Given the description of an element on the screen output the (x, y) to click on. 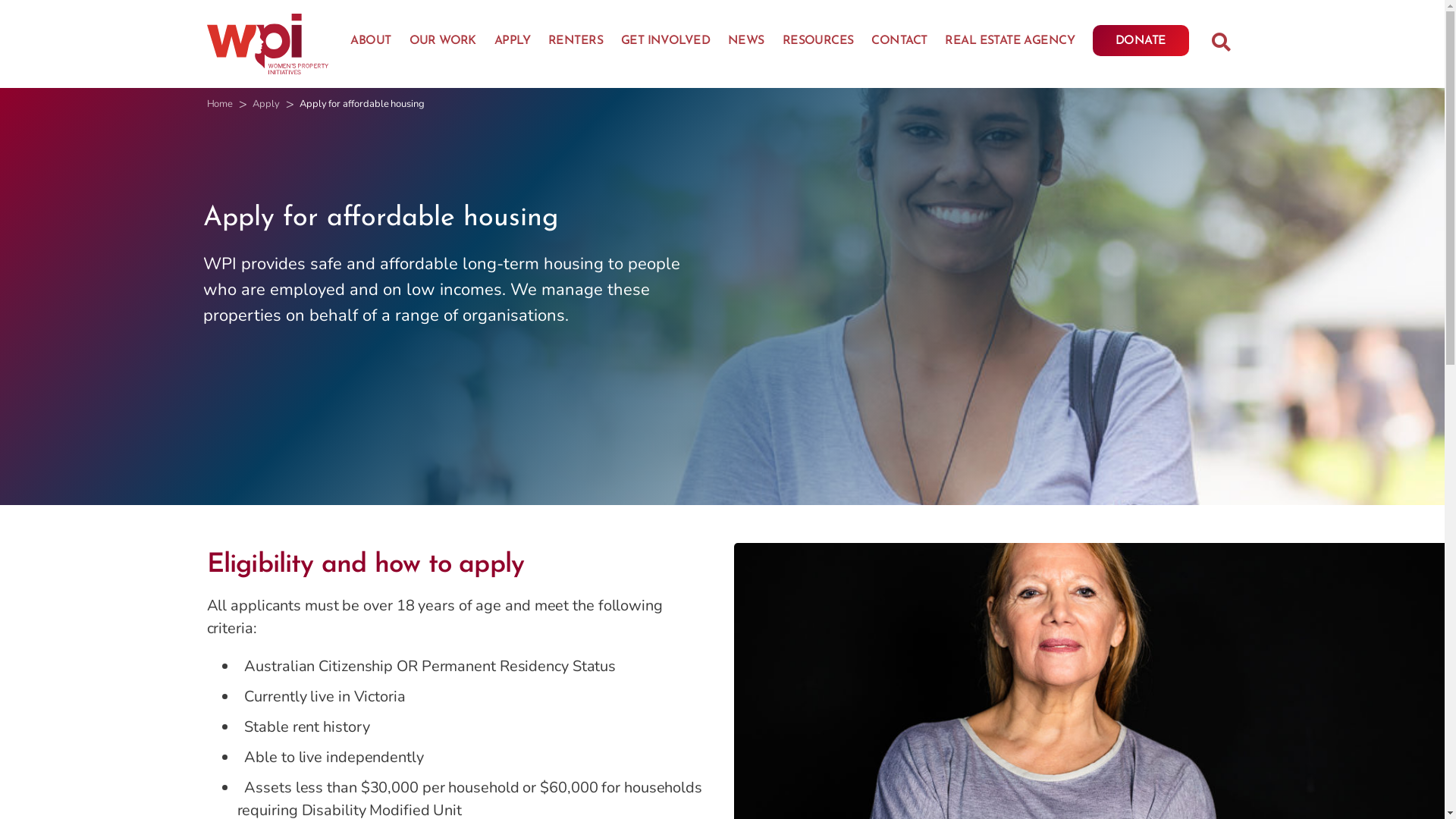
RESOURCES Element type: text (817, 42)
Home Element type: text (219, 103)
APPLY Element type: text (512, 42)
Search form Element type: text (1221, 44)
RENTERS Element type: text (575, 42)
DONATE Element type: text (1140, 40)
OUR WORK Element type: text (442, 42)
NEWS Element type: text (746, 42)
ABOUT Element type: text (370, 42)
Apply Element type: text (265, 103)
CONTACT Element type: text (898, 42)
REAL ESTATE AGENCY Element type: text (1009, 42)
Home page - Women's Property Initiatives Element type: hover (266, 43)
GET INVOLVED Element type: text (665, 42)
